Given the description of an element on the screen output the (x, y) to click on. 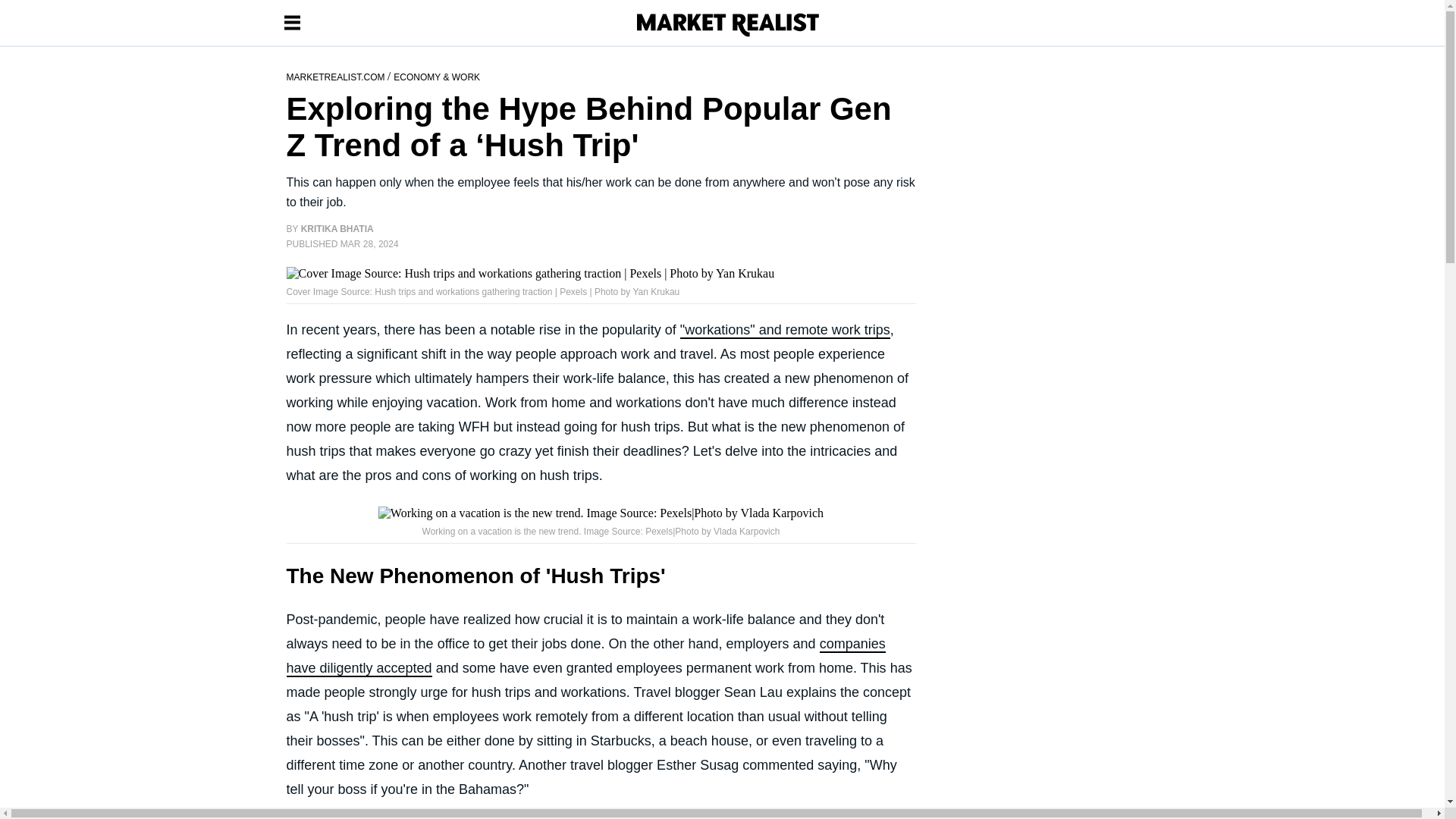
KRITIKA BHATIA (337, 228)
MARKETREALIST.COM (336, 75)
companies have diligently accepted (585, 656)
"workations" and remote work trips (784, 330)
